Given the description of an element on the screen output the (x, y) to click on. 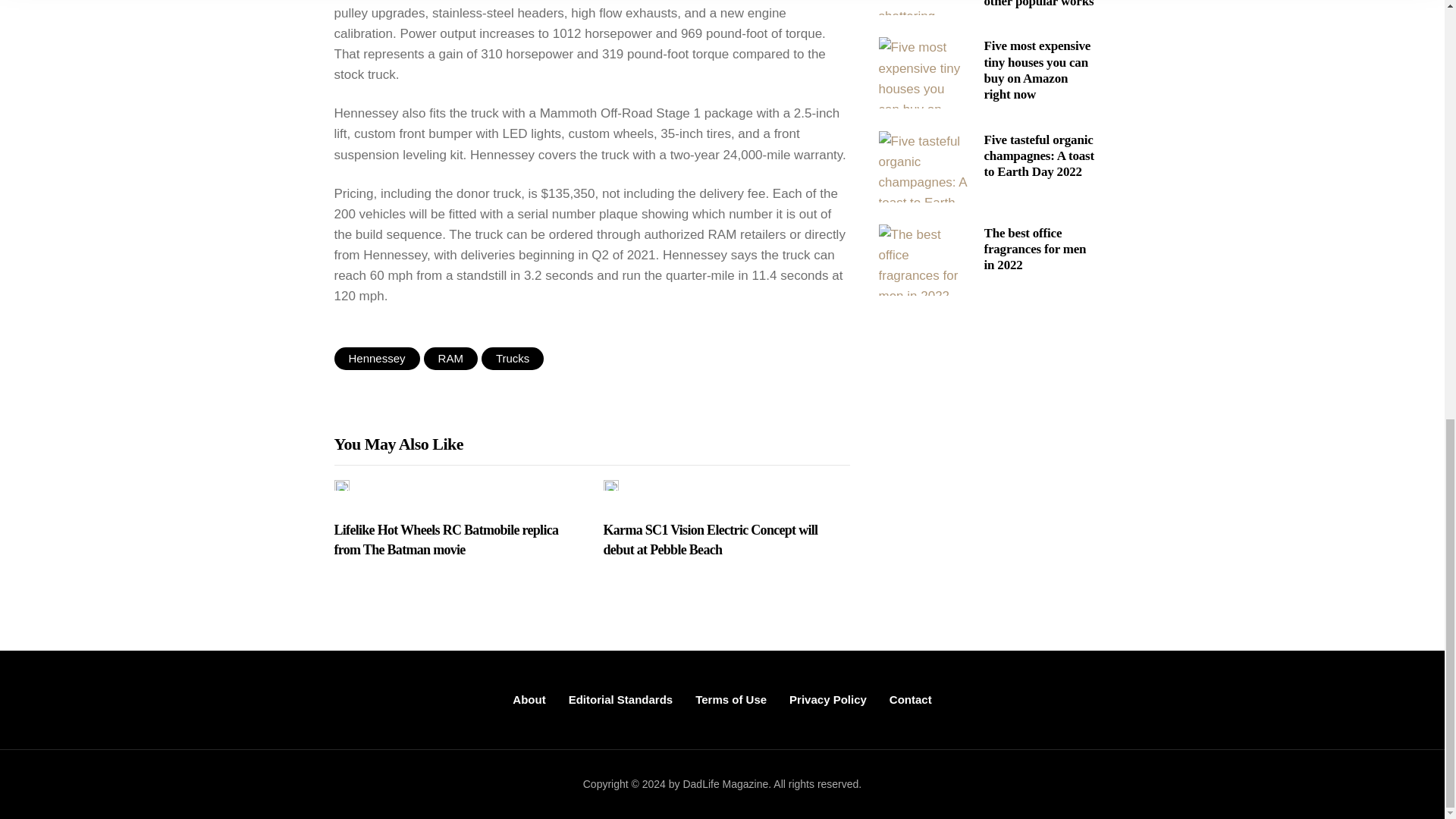
Hennessey (376, 358)
RAM (450, 358)
Trucks (512, 358)
Karma SC1 Vision Electric Concept will debut at Pebble Beach (727, 540)
